Given the description of an element on the screen output the (x, y) to click on. 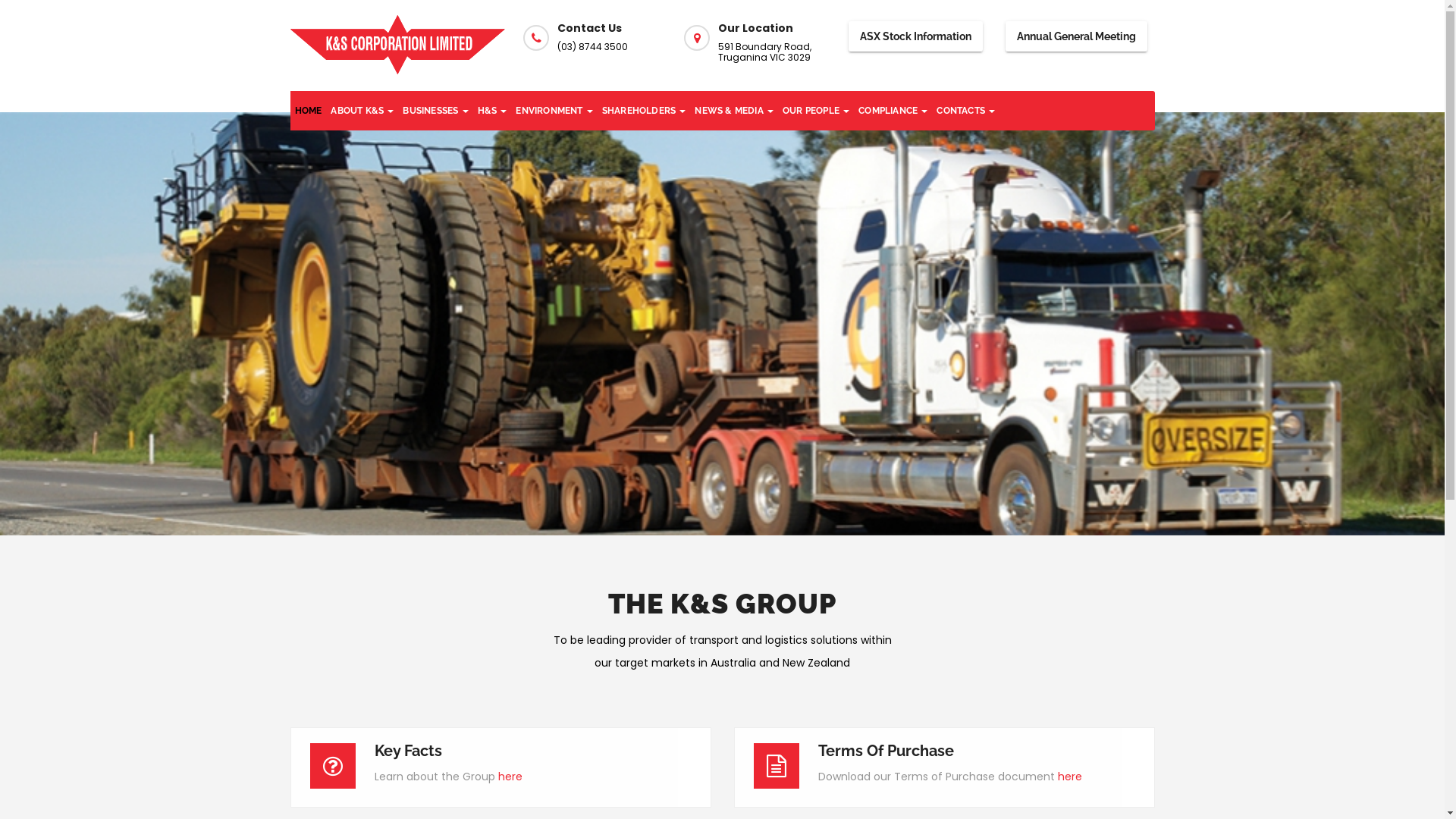
SHAREHOLDERS Element type: text (643, 110)
OUR PEOPLE Element type: text (815, 110)
here Element type: text (509, 776)
NEWS & MEDIA Element type: text (734, 110)
HOME Element type: text (307, 110)
here Element type: text (1069, 776)
CONTACTS Element type: text (965, 110)
ASX Stock Information Element type: text (915, 36)
H&S Element type: text (492, 110)
COMPLIANCE Element type: text (892, 110)
BUSINESSES Element type: text (435, 110)
ENVIRONMENT Element type: text (553, 110)
Annual General Meeting Element type: text (1076, 36)
ABOUT K&S Element type: text (362, 110)
